Given the description of an element on the screen output the (x, y) to click on. 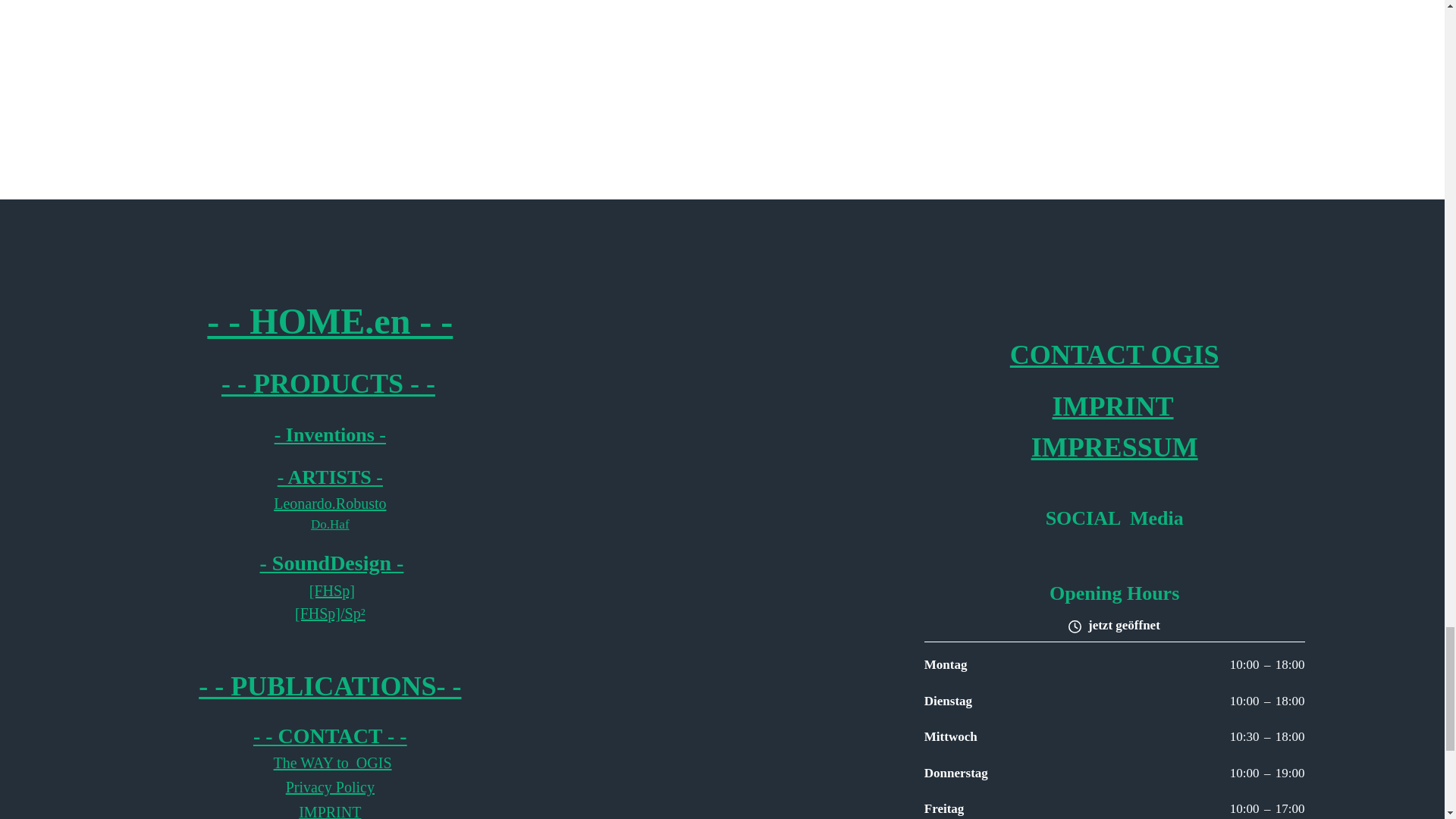
- - PRODUCTS - - (328, 383)
Leonardo.Robusto (329, 503)
- Inventions - (330, 434)
Do.Haf (330, 523)
- - HOME.en - - (329, 320)
- SoundDesign - (332, 562)
- - CONTACT - - (330, 735)
- ARTISTS - (330, 477)
- - PUBLICATIONS- - (329, 685)
